Given the description of an element on the screen output the (x, y) to click on. 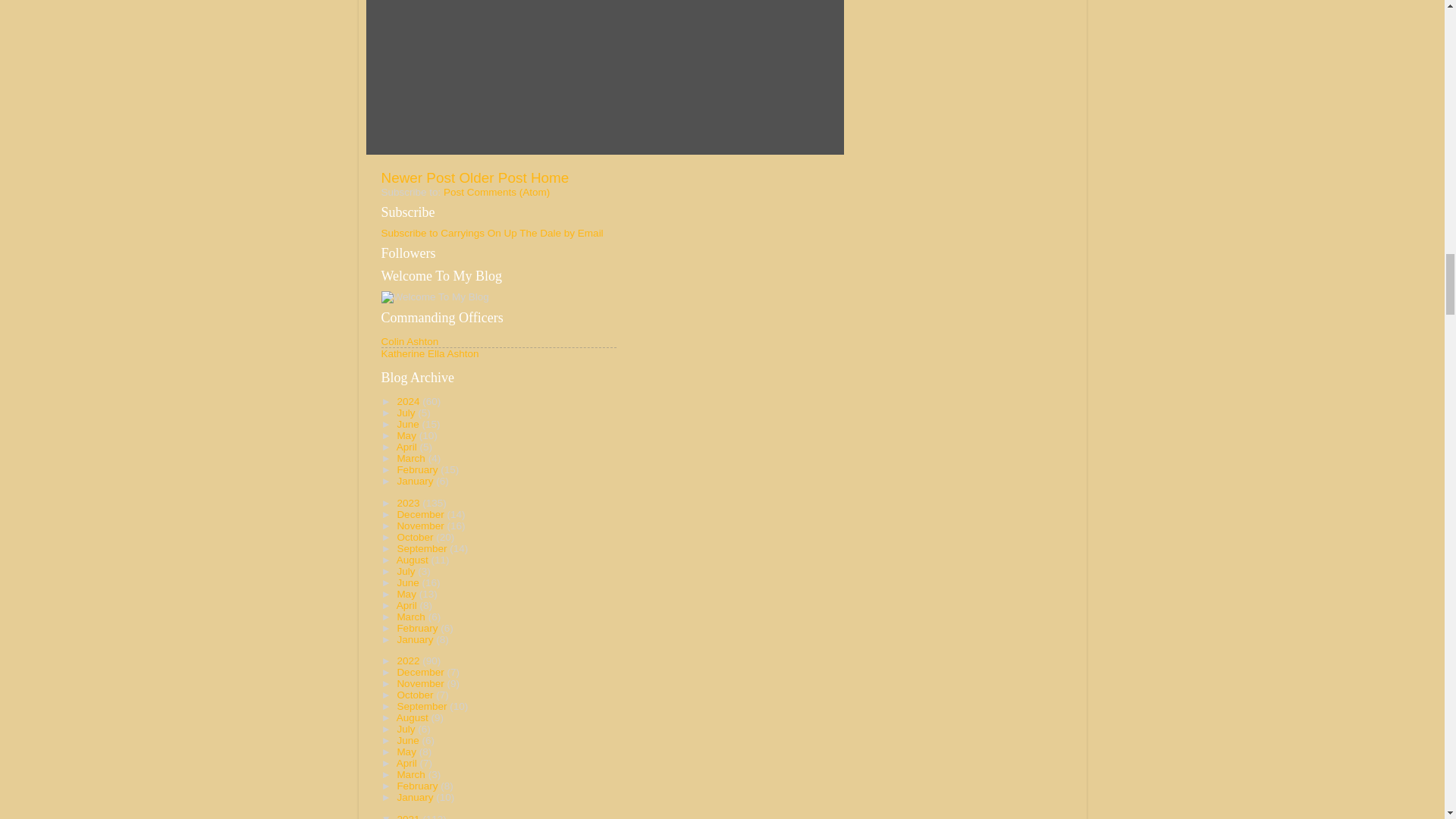
Older Post (491, 177)
Newer Post (417, 177)
